Given the description of an element on the screen output the (x, y) to click on. 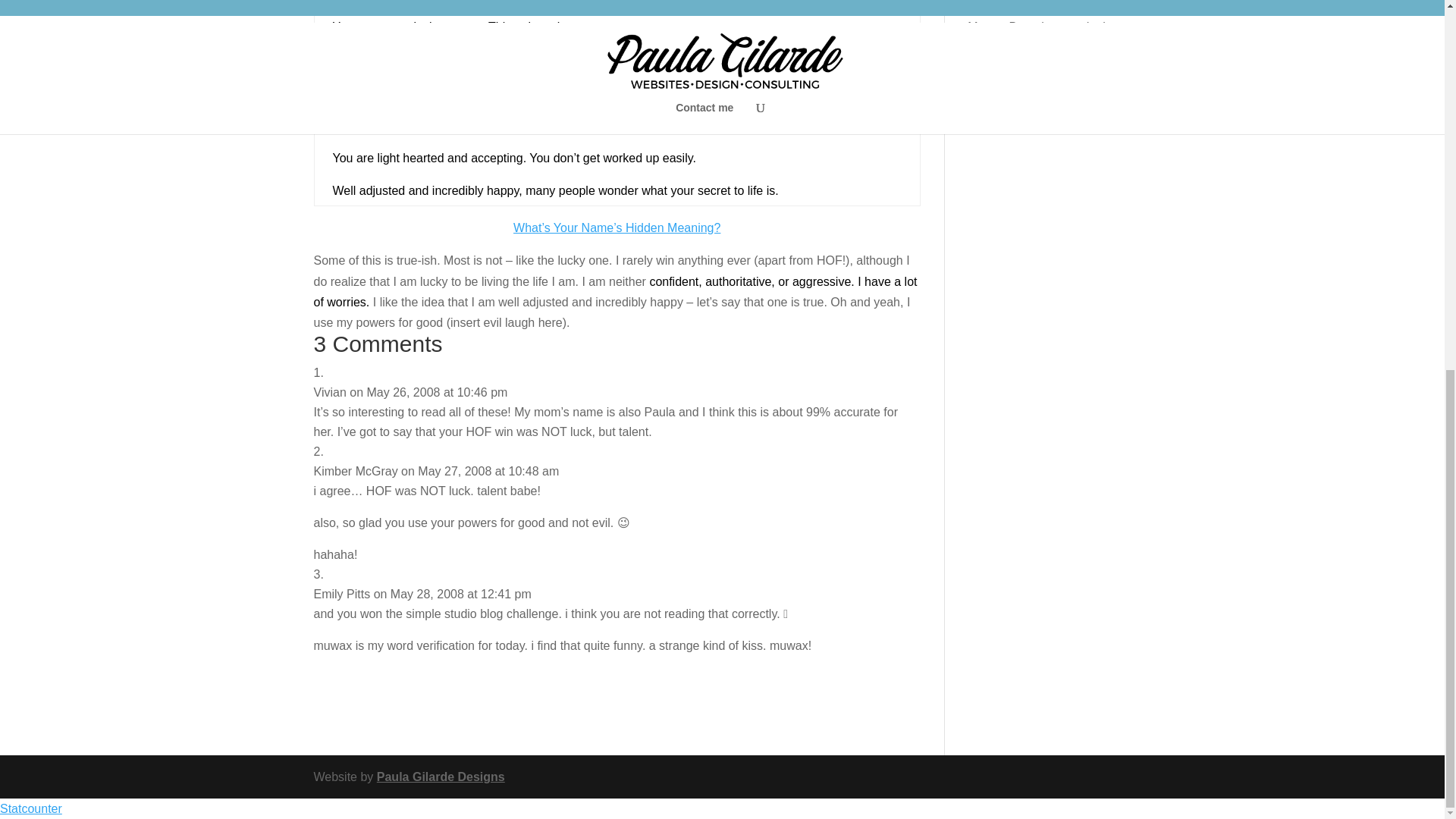
Statcounter (31, 808)
Paula Gilarde Designs (441, 776)
Butterbeer and other ramblings (1048, 3)
Butterbeer and other ramblings (1043, 37)
Butterbeer and other ramblings (1048, 84)
